Given the description of an element on the screen output the (x, y) to click on. 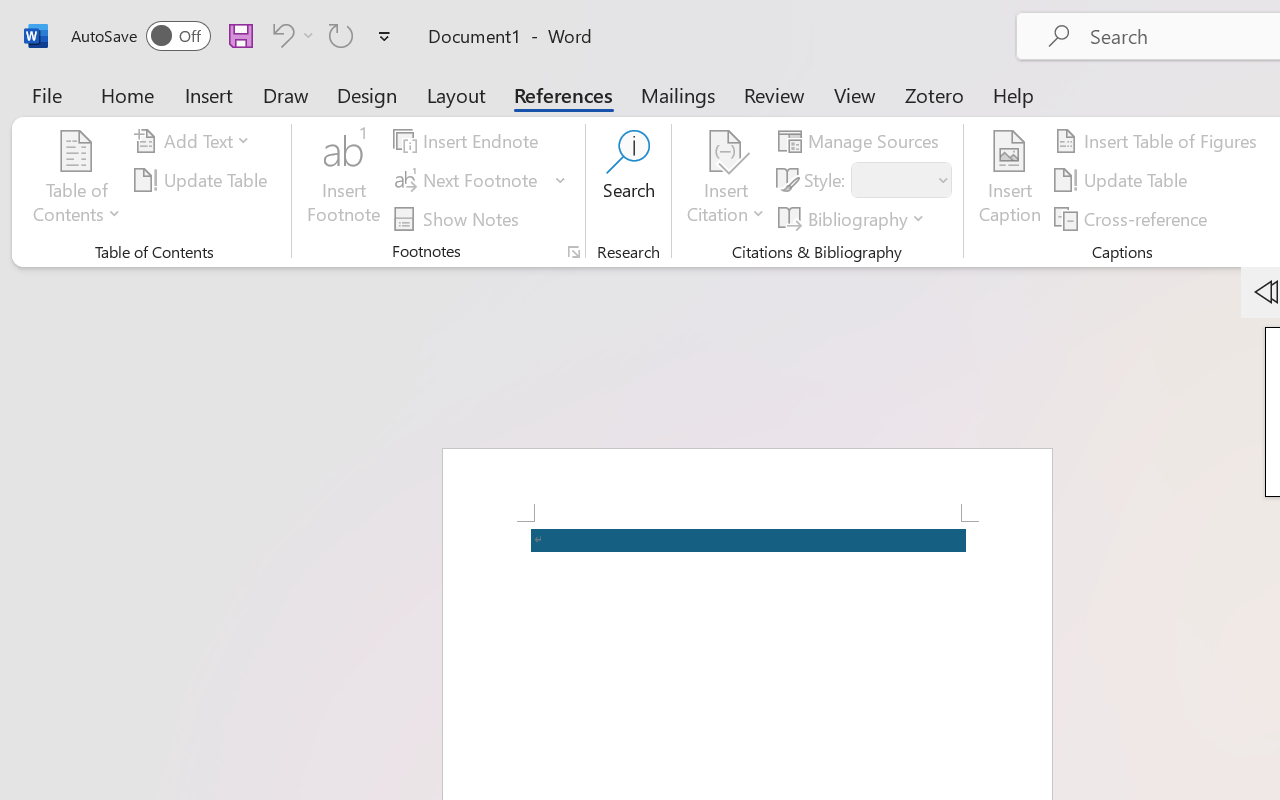
Style (892, 179)
Insert Footnote (344, 179)
Update Table (1124, 179)
Insert Caption... (1009, 180)
Undo Apply Quick Style Set (280, 35)
